Given the description of an element on the screen output the (x, y) to click on. 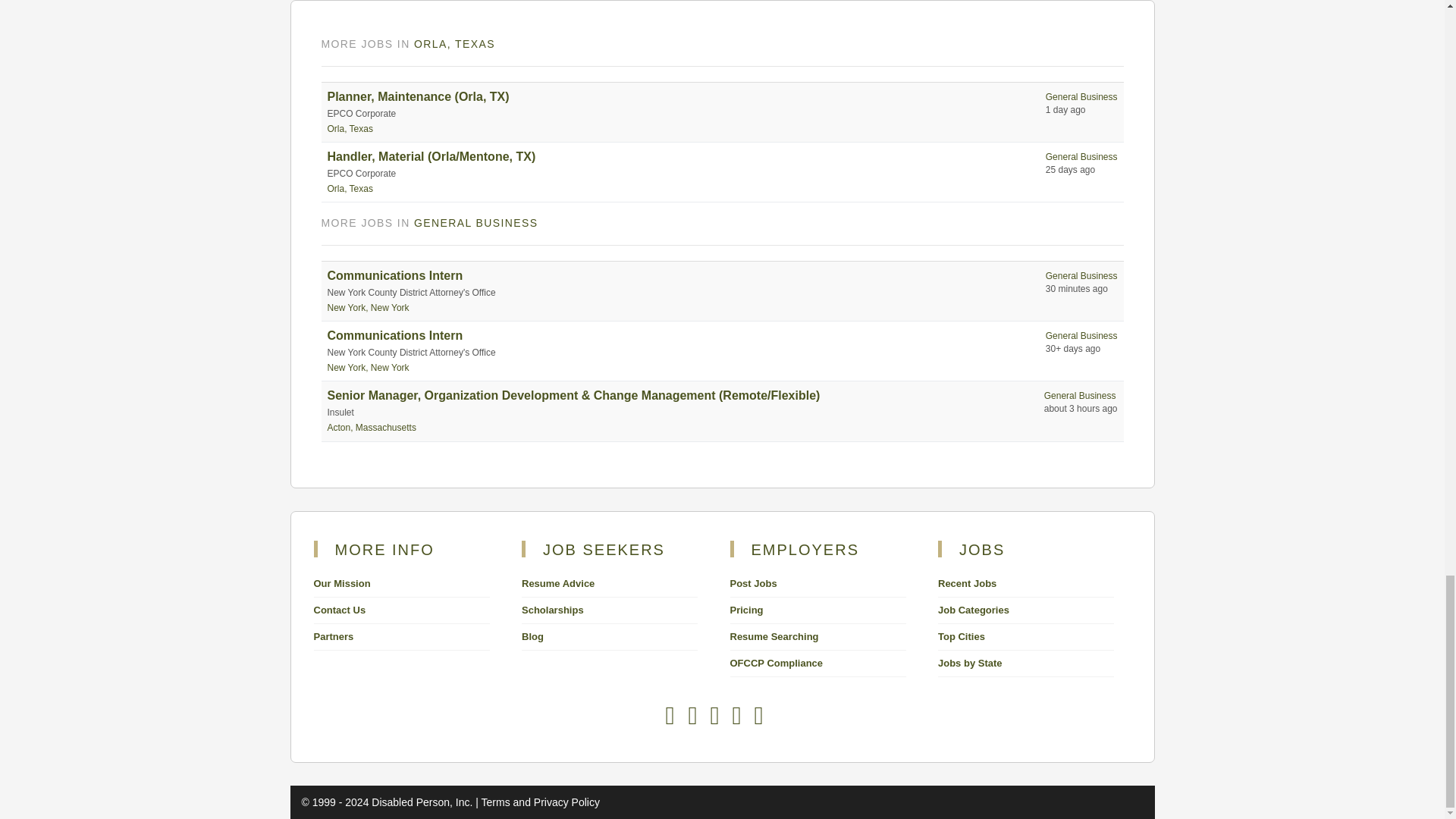
Partners (333, 636)
New York, New York (368, 307)
Blog (532, 636)
GENERAL BUSINESS (475, 223)
Contact Us (340, 609)
Communications Intern (395, 275)
General Business (1079, 395)
Scholarships (552, 609)
OFCCP Compliance (775, 663)
ORLA, TEXAS (454, 43)
